Given the description of an element on the screen output the (x, y) to click on. 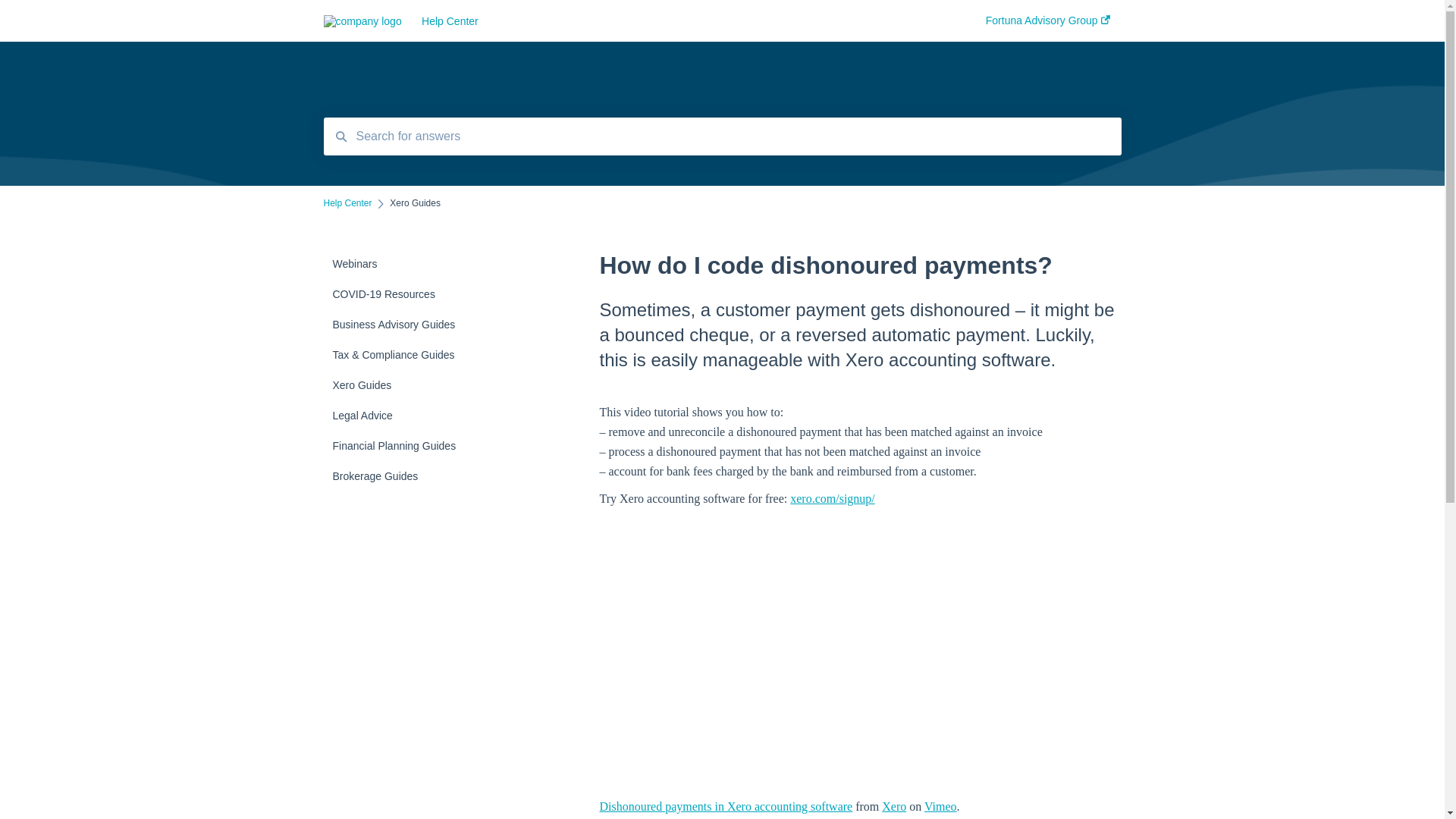
Business Advisory Guides Element type: text (414, 324)
Xero Element type: text (893, 806)
Dishonoured payments in Xero accounting software Element type: text (725, 806)
Financial Planning Guides Element type: text (414, 445)
Help Center Element type: text (680, 21)
Brokerage Guides Element type: text (414, 476)
Vimeo Element type: text (940, 806)
Webinars Element type: text (414, 263)
Xero Guides Element type: text (414, 385)
xero.com/signup/ Element type: text (832, 498)
Help Center Element type: text (347, 202)
Tax & Compliance Guides Element type: text (414, 354)
Legal Advice Element type: text (414, 415)
COVID-19 Resources Element type: text (414, 294)
